Given the description of an element on the screen output the (x, y) to click on. 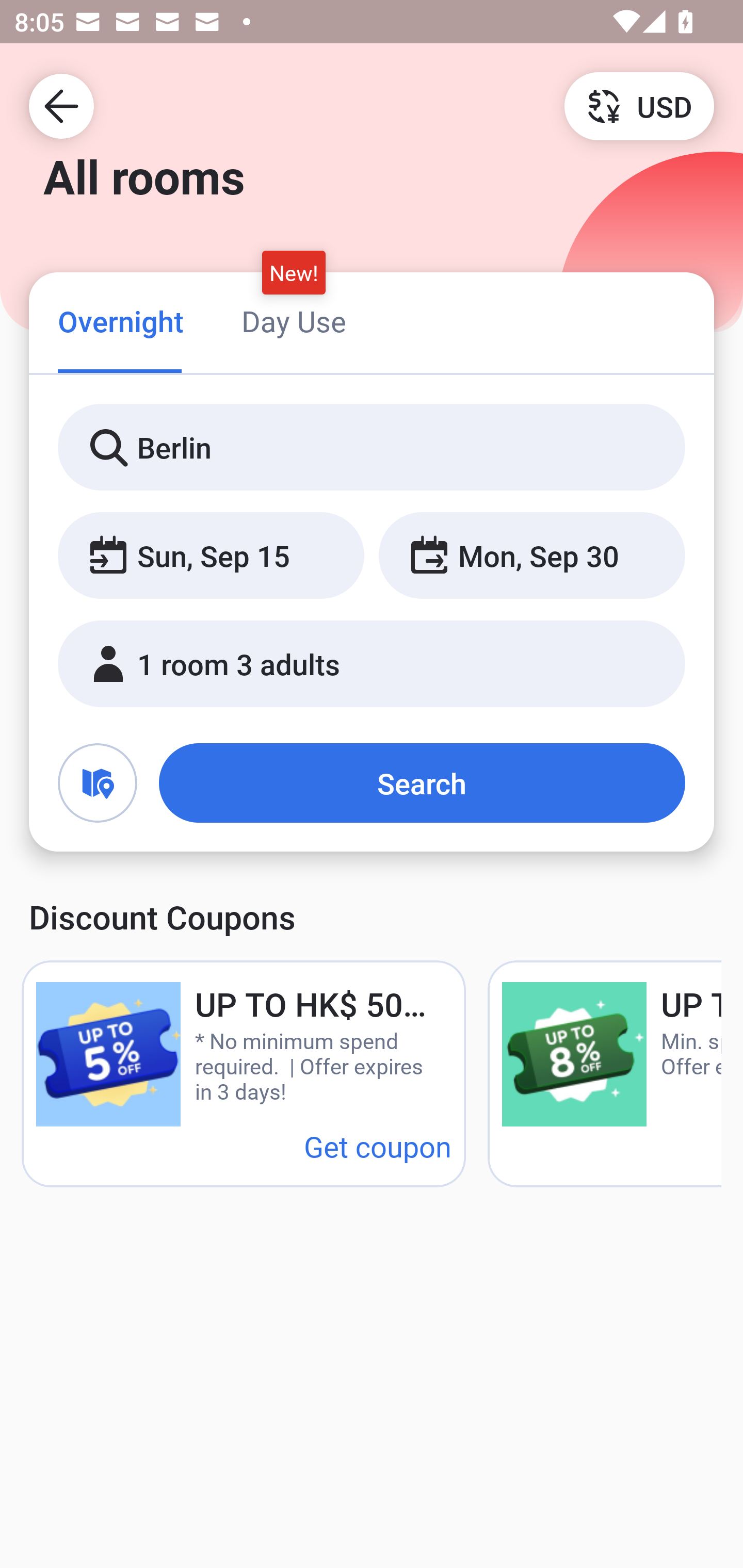
USD (639, 105)
New! (294, 272)
Day Use (293, 321)
Berlin (371, 447)
Sun, Sep 15 (210, 555)
Mon, Sep 30 (531, 555)
1 room 3 adults (371, 663)
Search (422, 783)
Get coupon (377, 1146)
